Given the description of an element on the screen output the (x, y) to click on. 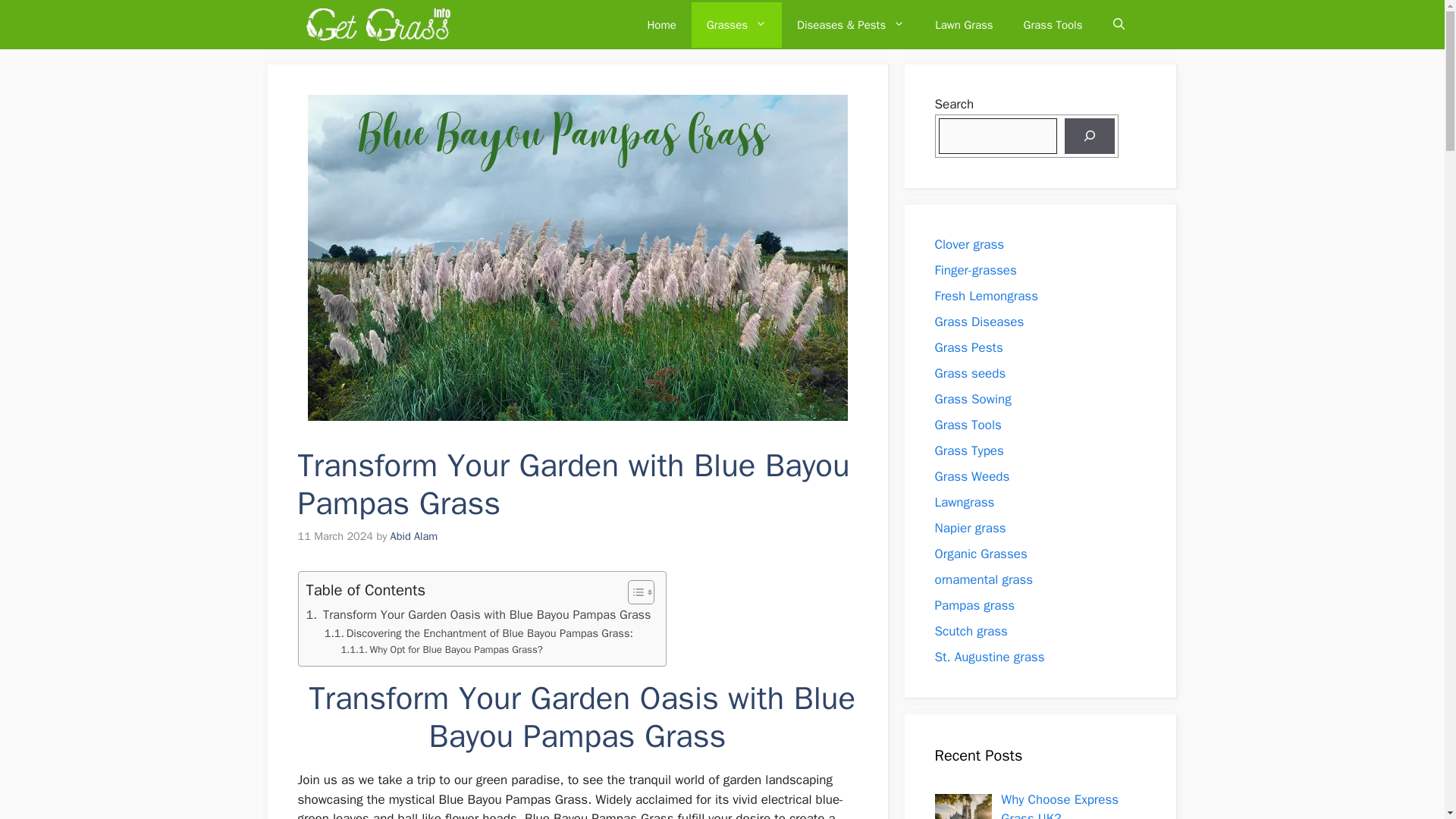
Get Grass Info (377, 24)
Why Opt for Blue Bayou Pampas Grass? (441, 650)
 Transform Your Garden Oasis with Blue Bayou Pampas Grass (477, 614)
Discovering the Enchantment of Blue Bayou Pampas Grass: (478, 633)
Abid Alam (414, 535)
Home (660, 23)
Grass Tools (1053, 23)
Discovering the Enchantment of Blue Bayou Pampas Grass: (478, 633)
Why Opt for Blue Bayou Pampas Grass? (441, 650)
Grasses (736, 23)
View all posts by Abid Alam (414, 535)
Lawn Grass (963, 23)
